Given the description of an element on the screen output the (x, y) to click on. 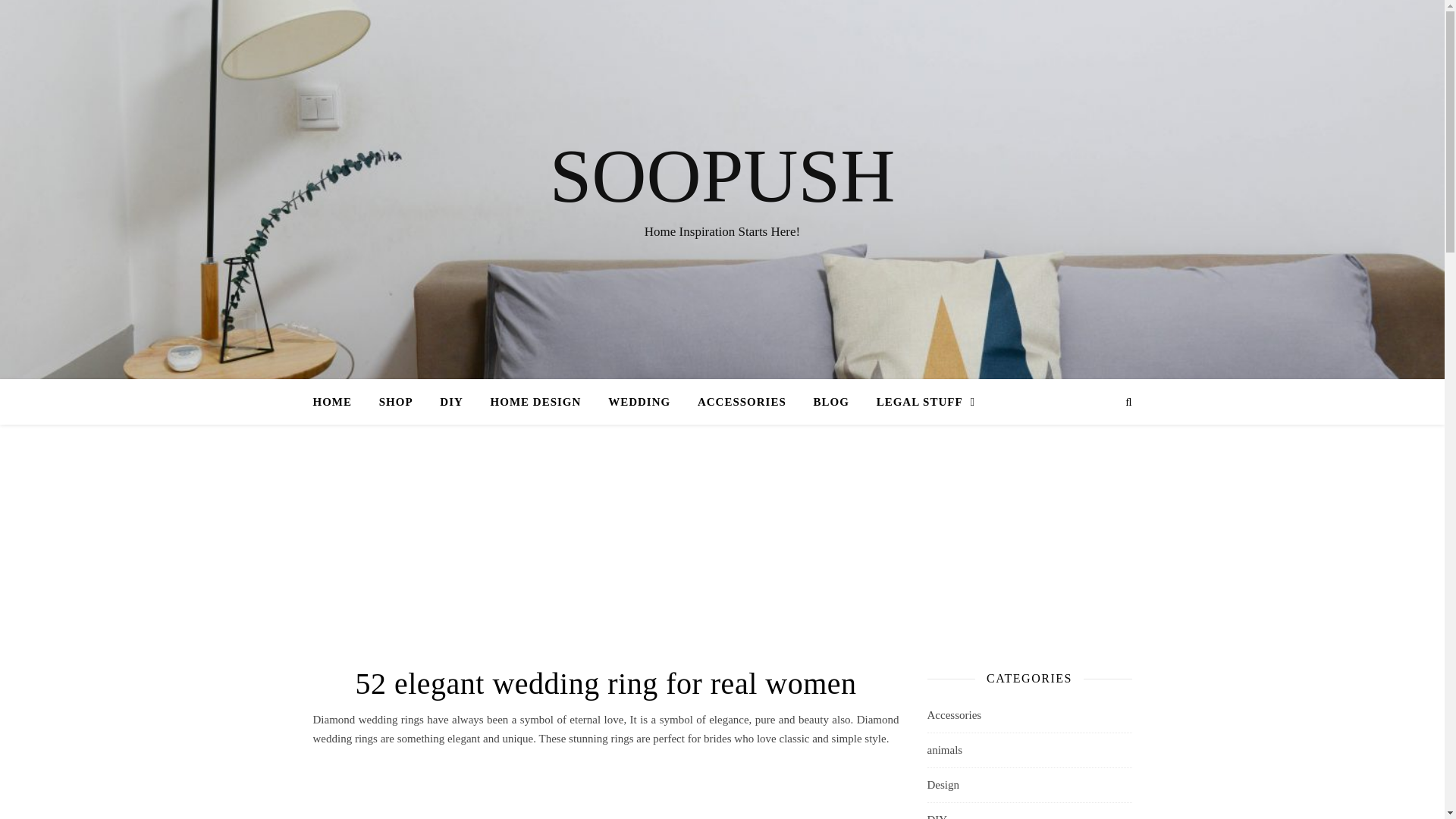
BLOG (831, 402)
WEDDING (638, 402)
SHOP (395, 402)
HOME DESIGN (536, 402)
ACCESSORIES (741, 402)
HOME (338, 402)
Advertisement (605, 789)
DIY (452, 402)
LEGAL STUFF (919, 402)
